Given the description of an element on the screen output the (x, y) to click on. 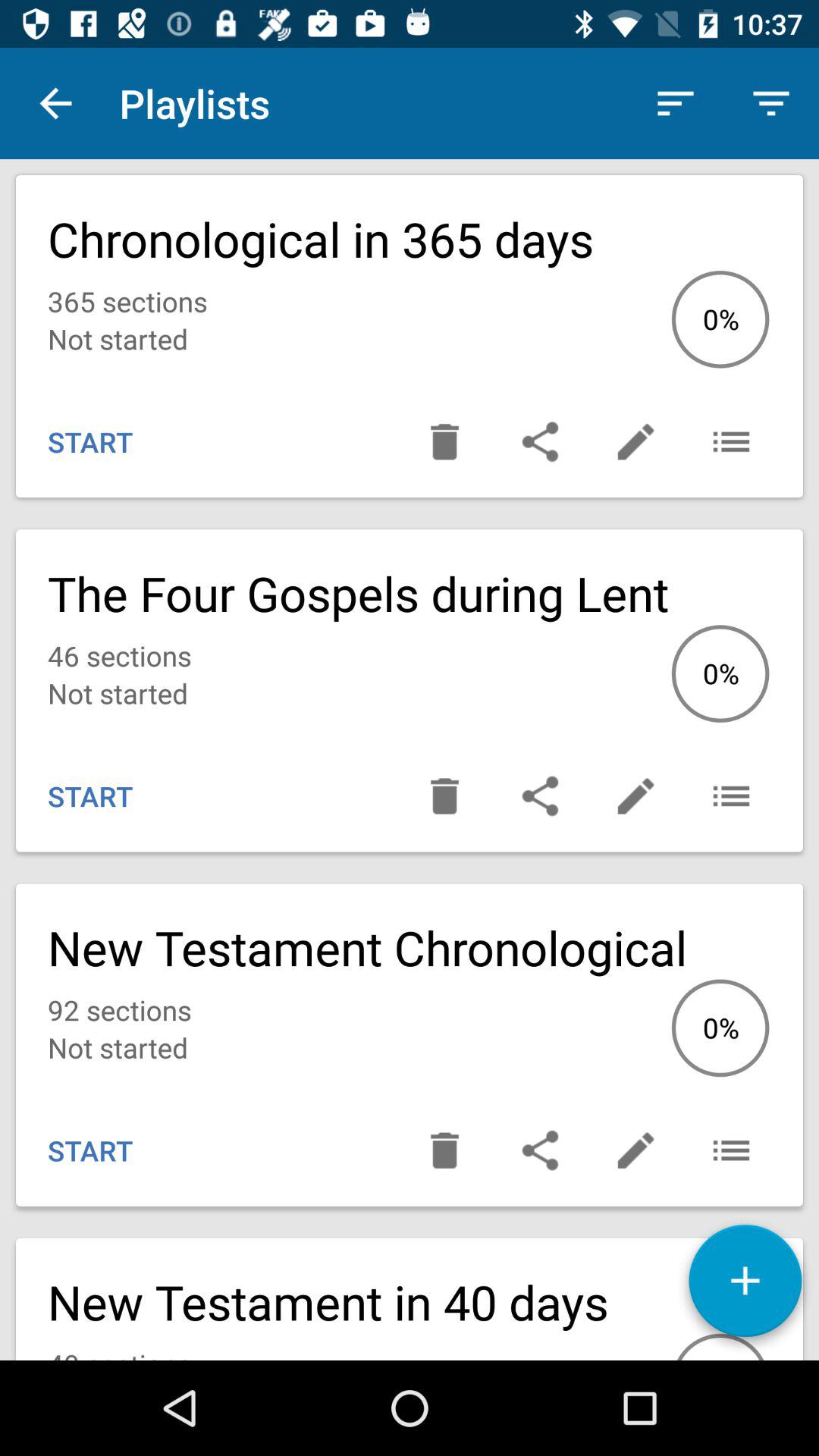
select the app next to the playlists icon (675, 103)
